Given the description of an element on the screen output the (x, y) to click on. 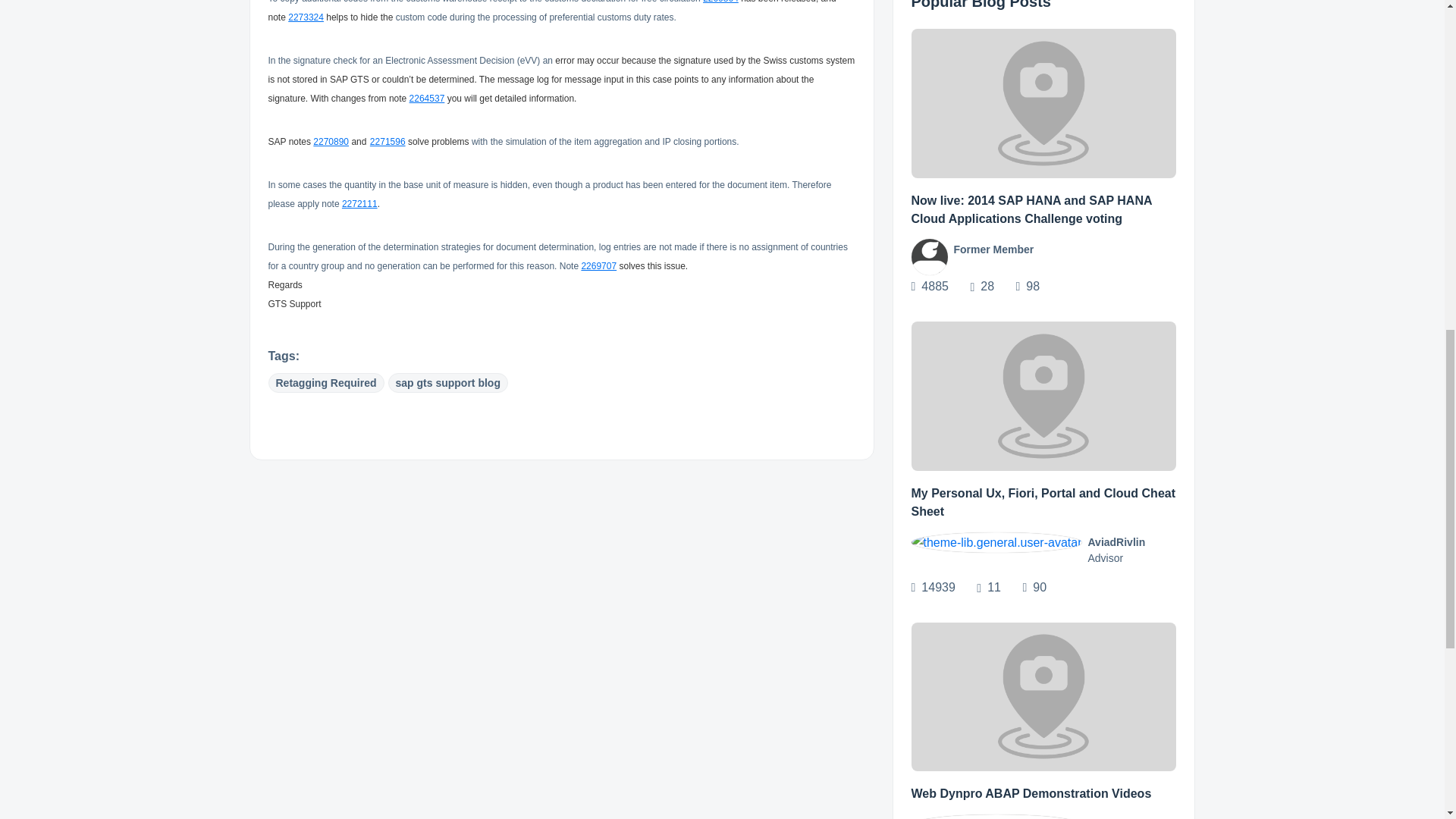
View article (1043, 103)
2269864 (720, 2)
2273324 (305, 15)
View profile (929, 257)
